Given the description of an element on the screen output the (x, y) to click on. 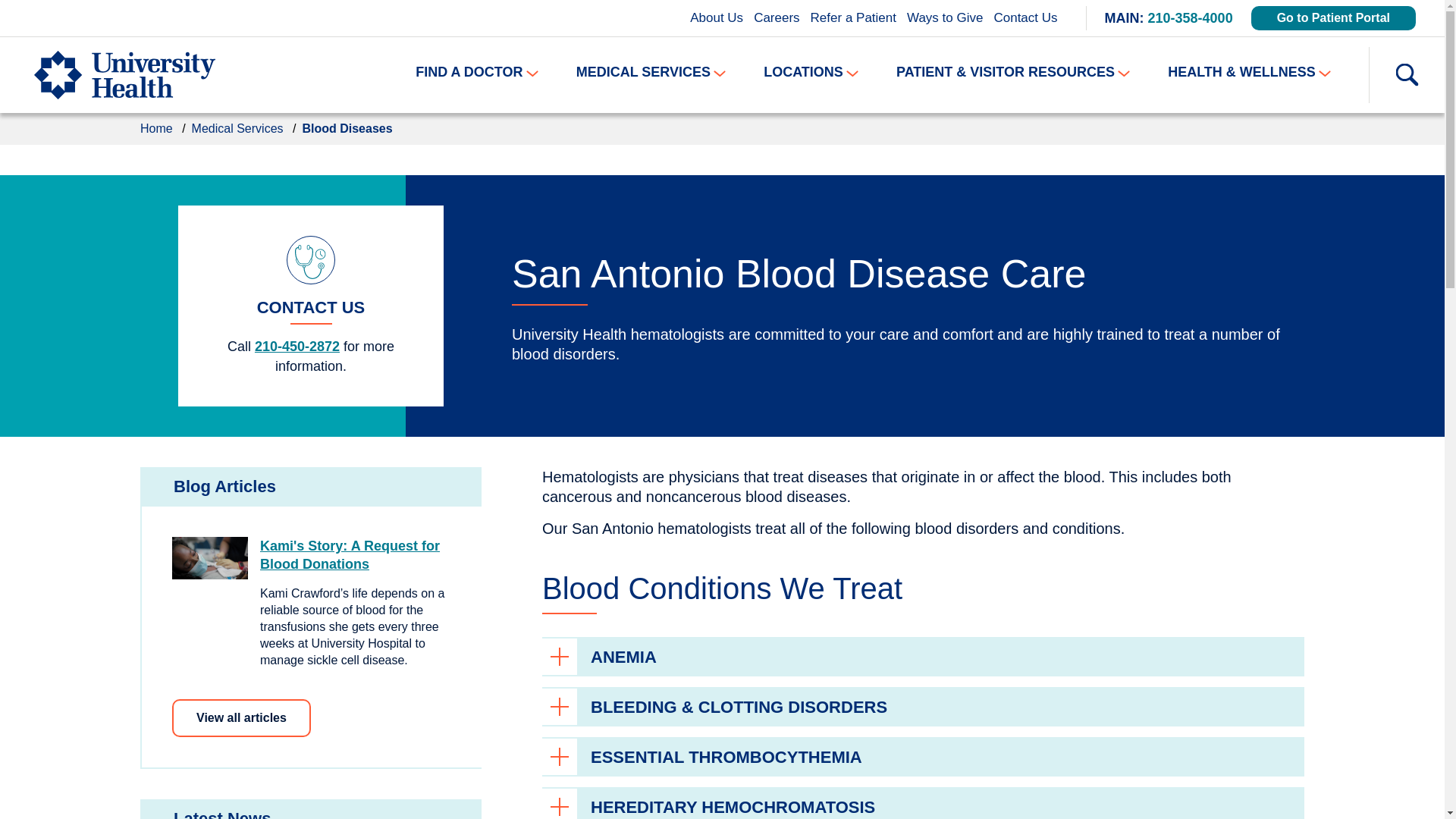
Return to University Health's Homepage. (130, 74)
LOCATIONS (810, 72)
Careers (776, 17)
Go to Patient Portal (1332, 17)
Ways to Give (944, 17)
Contact Us (1025, 17)
210-358-4000 (1190, 17)
FIND A DOCTOR (475, 72)
MEDICAL SERVICES (651, 72)
Refer a Patient (853, 17)
About Us (716, 17)
Main Phone Number (1190, 17)
